Given the description of an element on the screen output the (x, y) to click on. 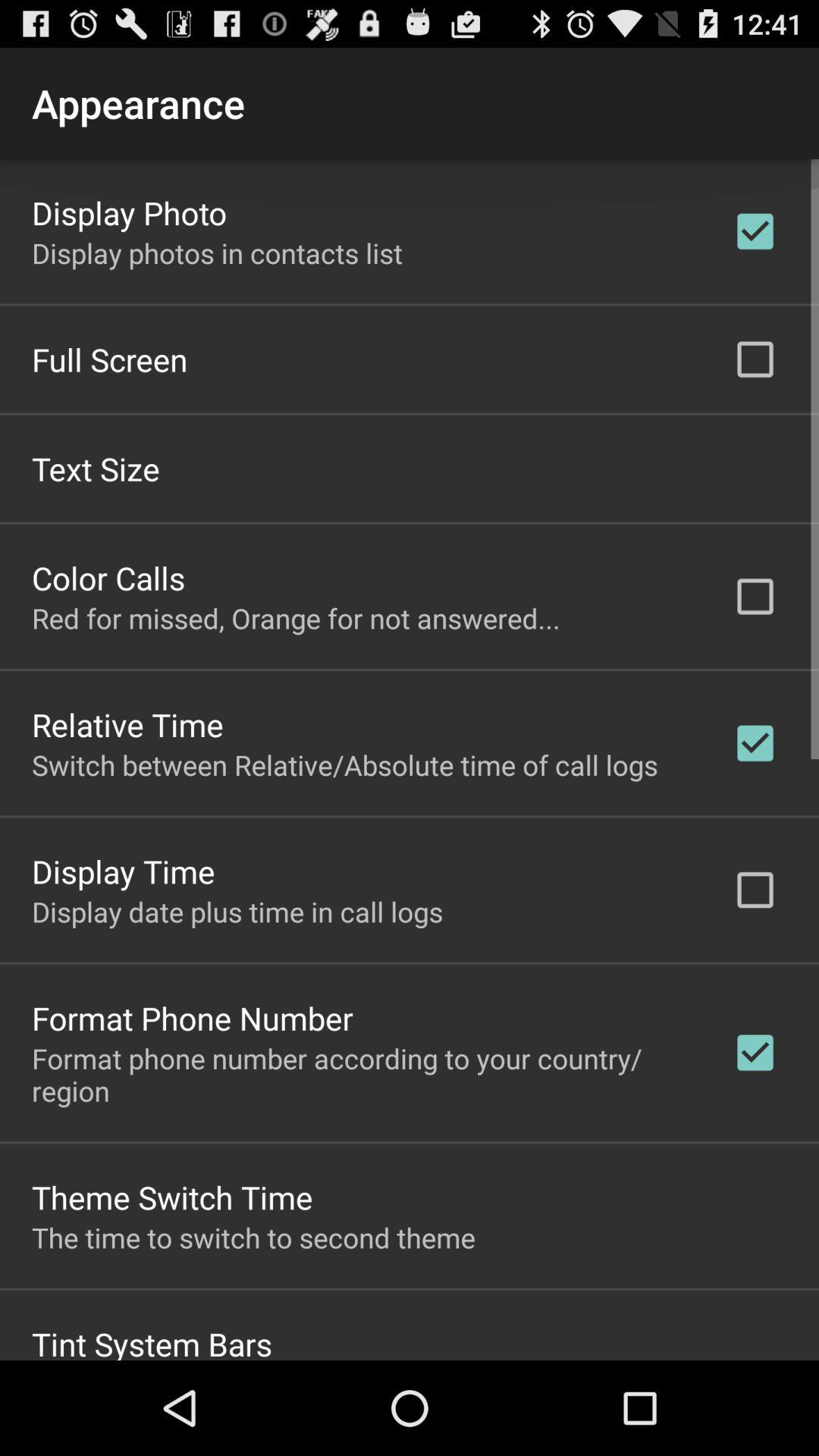
jump to the color calls item (108, 576)
